Given the description of an element on the screen output the (x, y) to click on. 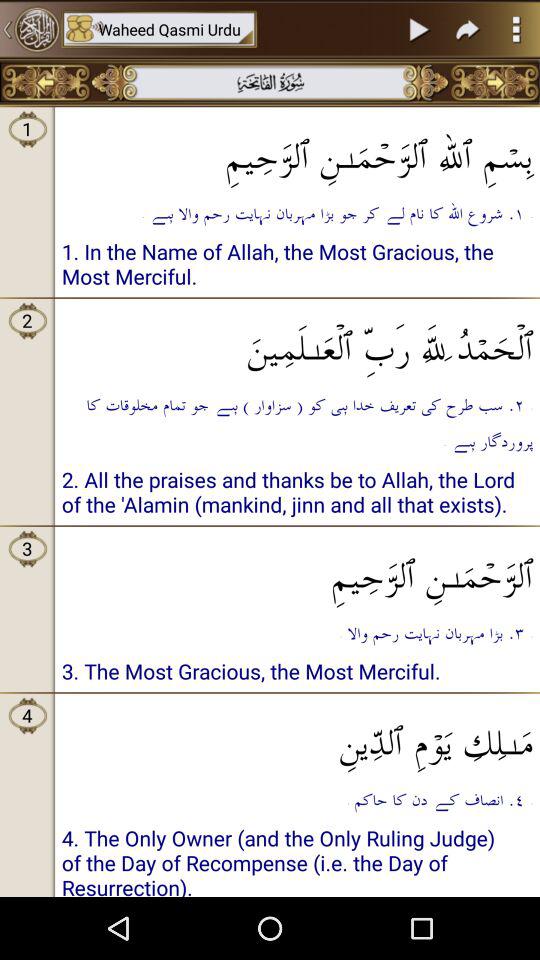
turn off item to the right of the waheed qasmi urdu (420, 29)
